Given the description of an element on the screen output the (x, y) to click on. 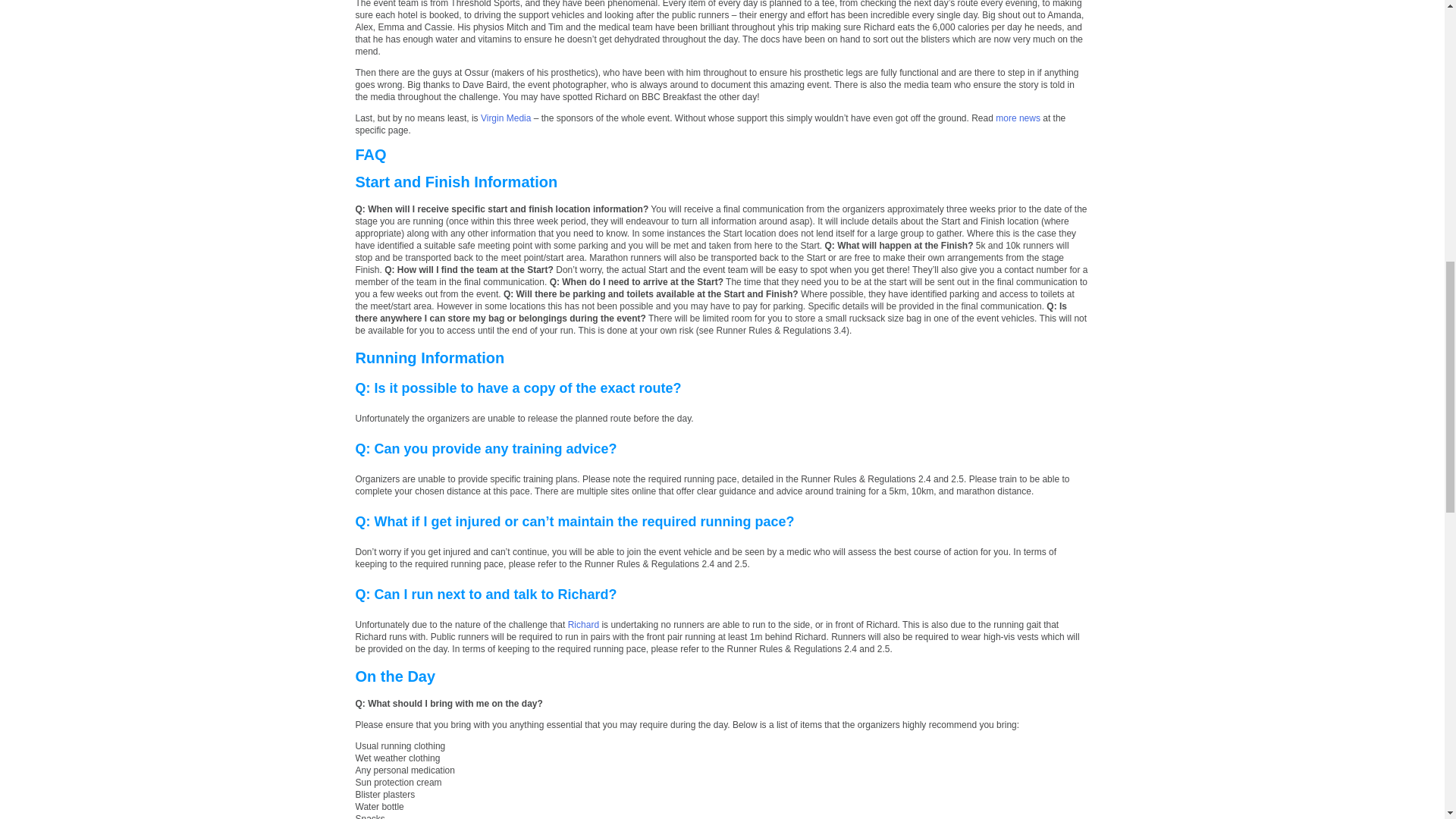
more news (1018, 118)
Virgin Media (505, 118)
Richard (582, 624)
